Given the description of an element on the screen output the (x, y) to click on. 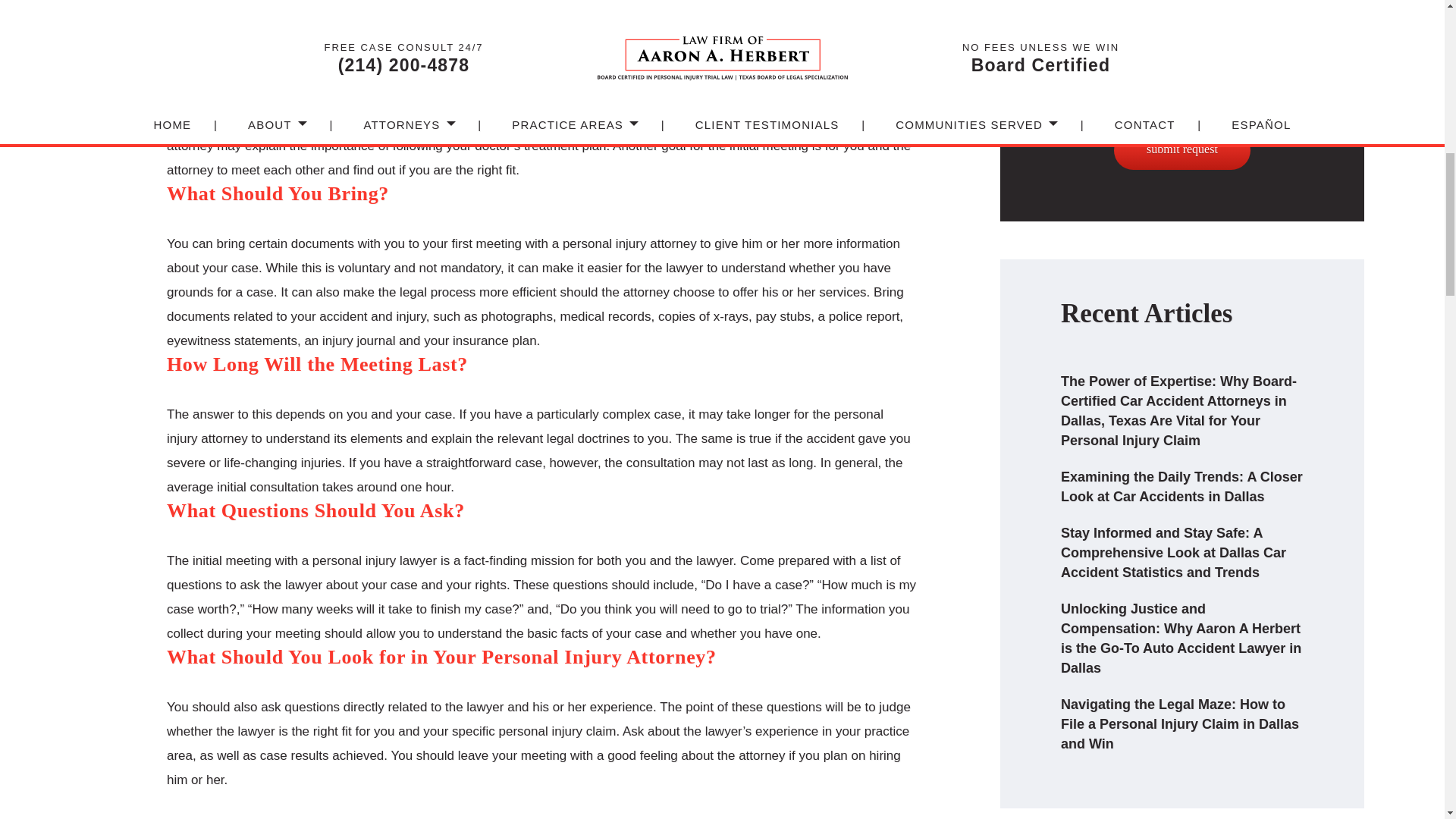
Submit Request (1181, 150)
